Given the description of an element on the screen output the (x, y) to click on. 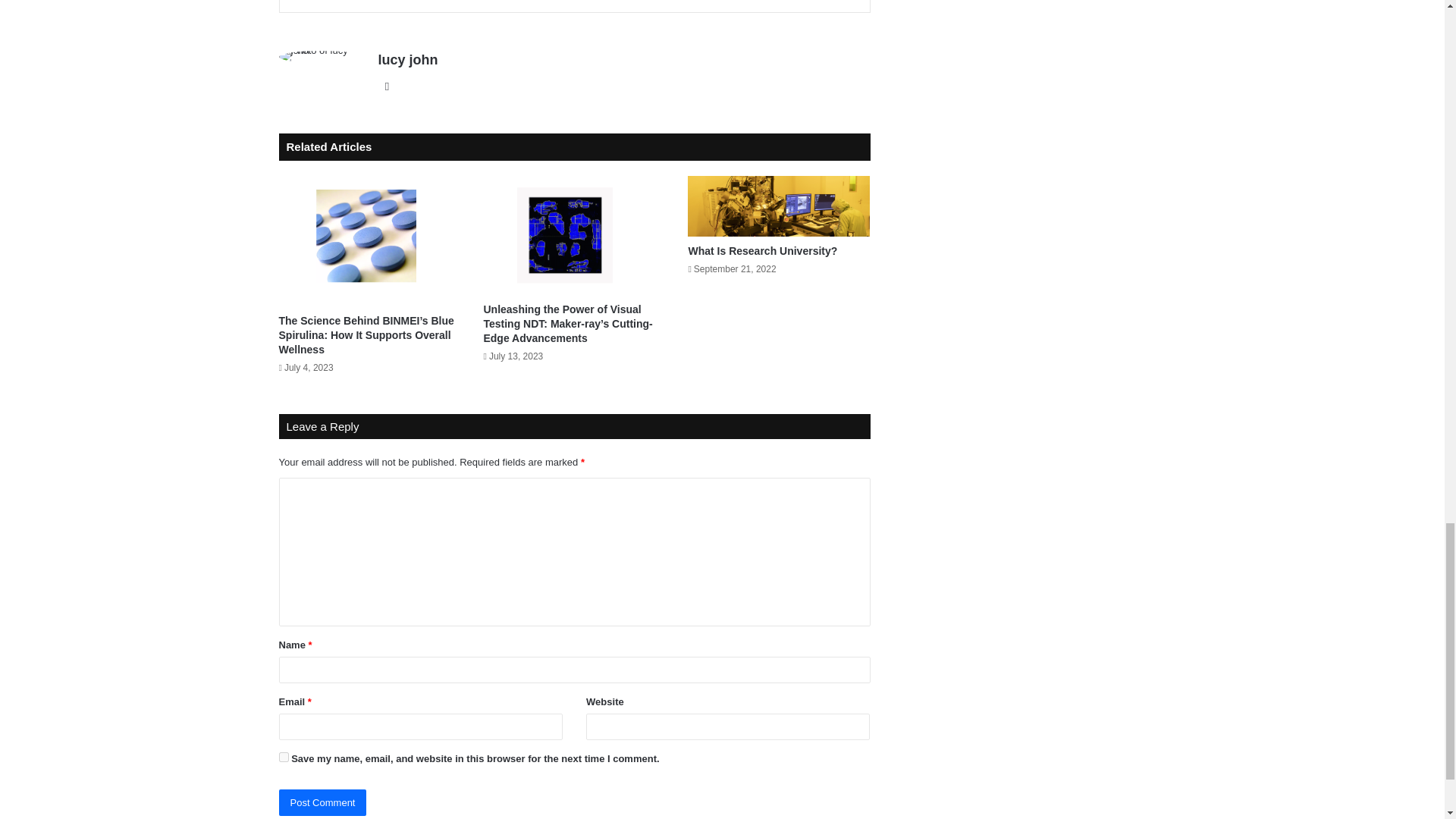
yes (283, 757)
Post Comment (322, 802)
lucy john (407, 59)
Website (386, 85)
